Given the description of an element on the screen output the (x, y) to click on. 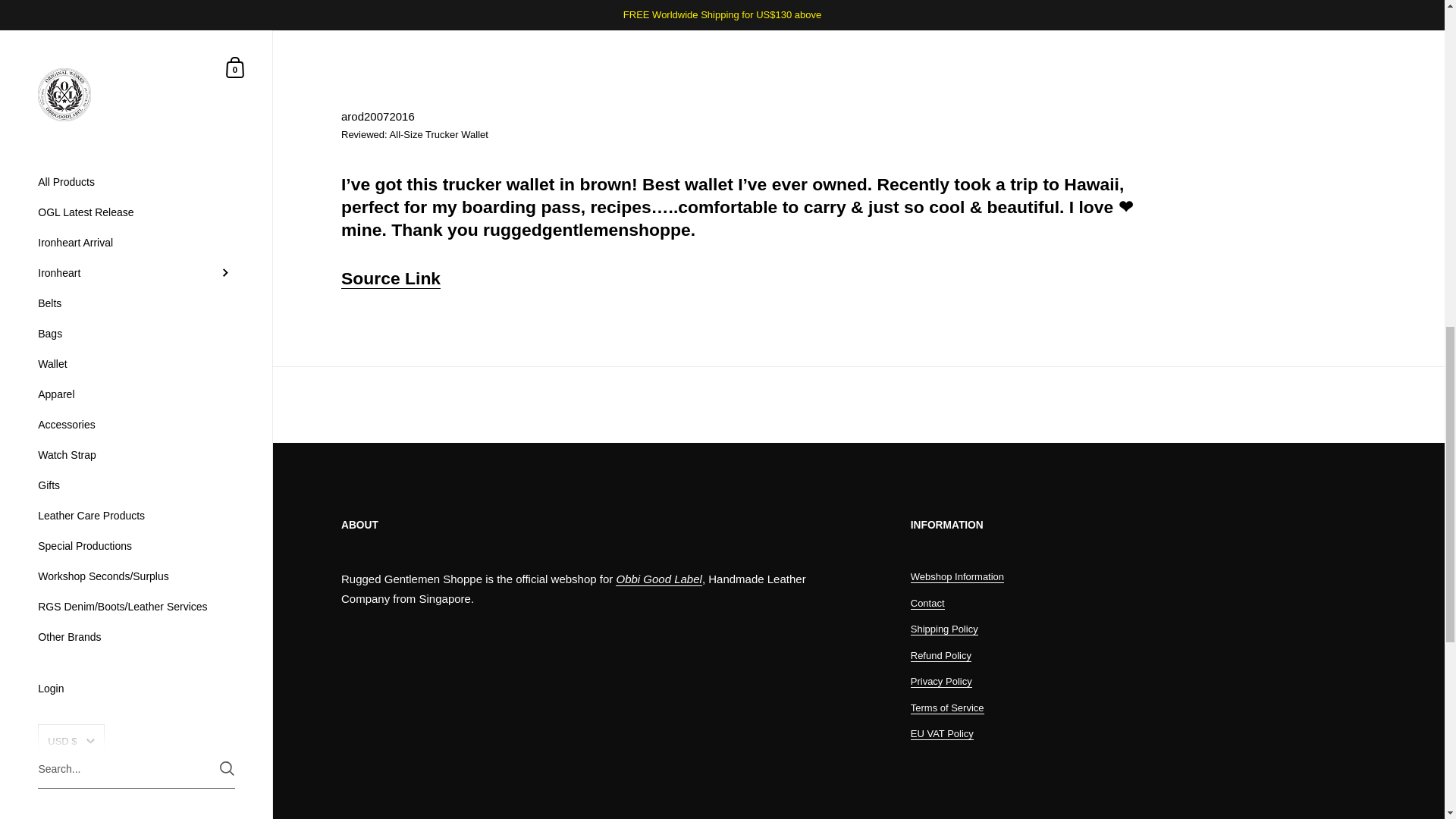
Review from Instagram (390, 278)
